Given the description of an element on the screen output the (x, y) to click on. 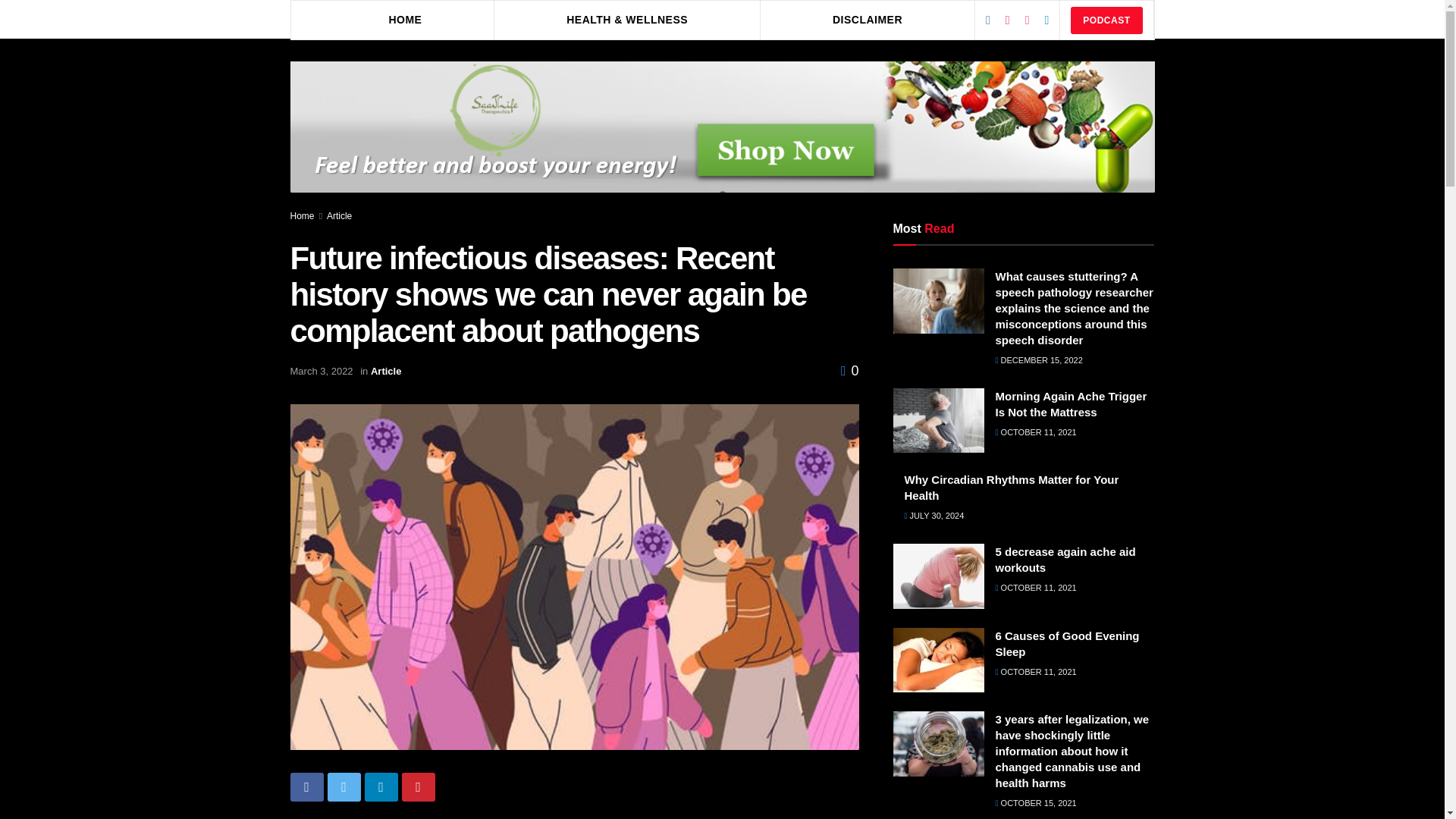
Home (301, 215)
PODCAST (1105, 20)
HOME (405, 19)
0 (850, 370)
Article (339, 215)
Article (386, 370)
March 3, 2022 (320, 370)
DISCLAIMER (867, 19)
